Given the description of an element on the screen output the (x, y) to click on. 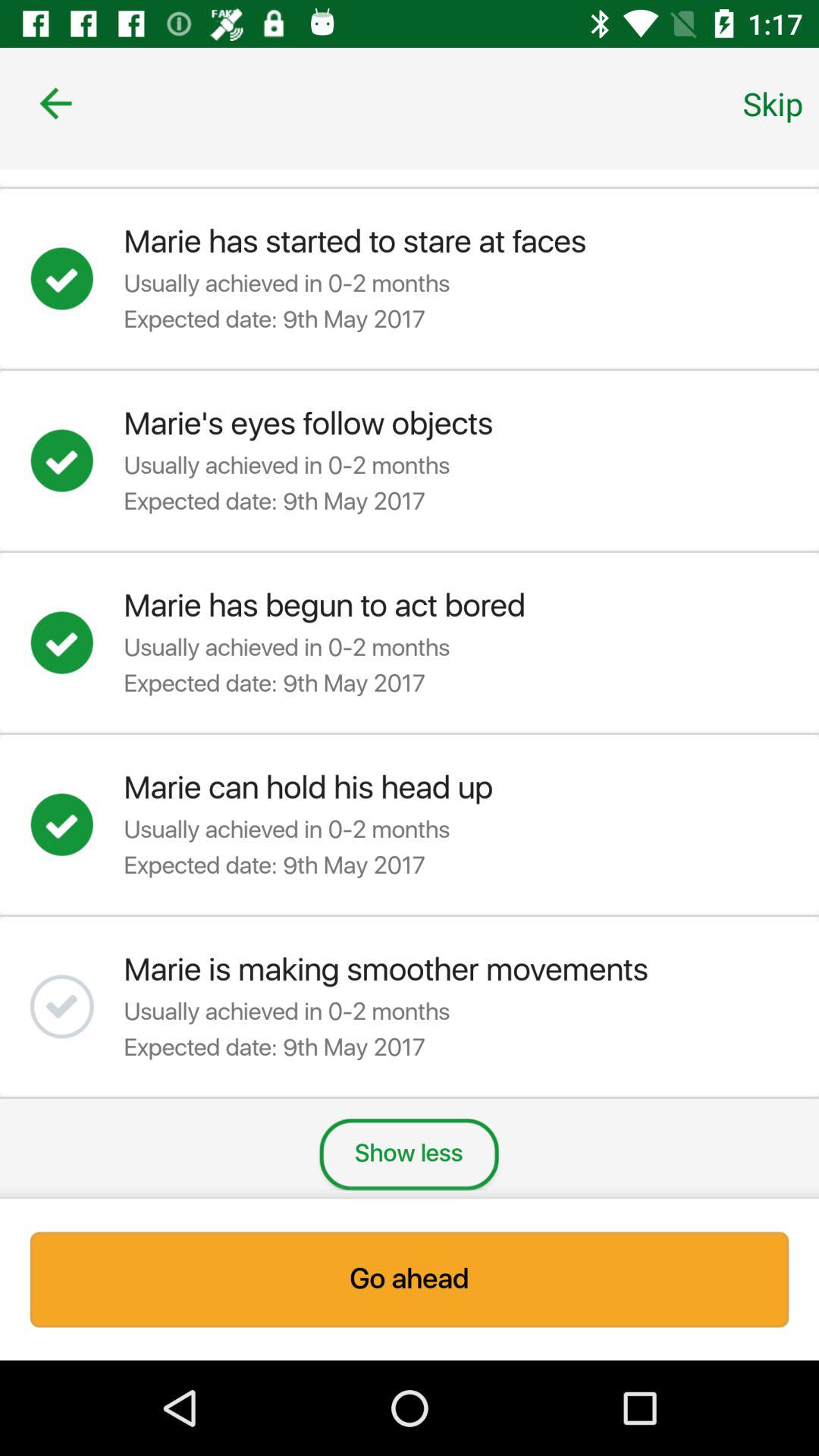
tap icon next to skip item (55, 103)
